Given the description of an element on the screen output the (x, y) to click on. 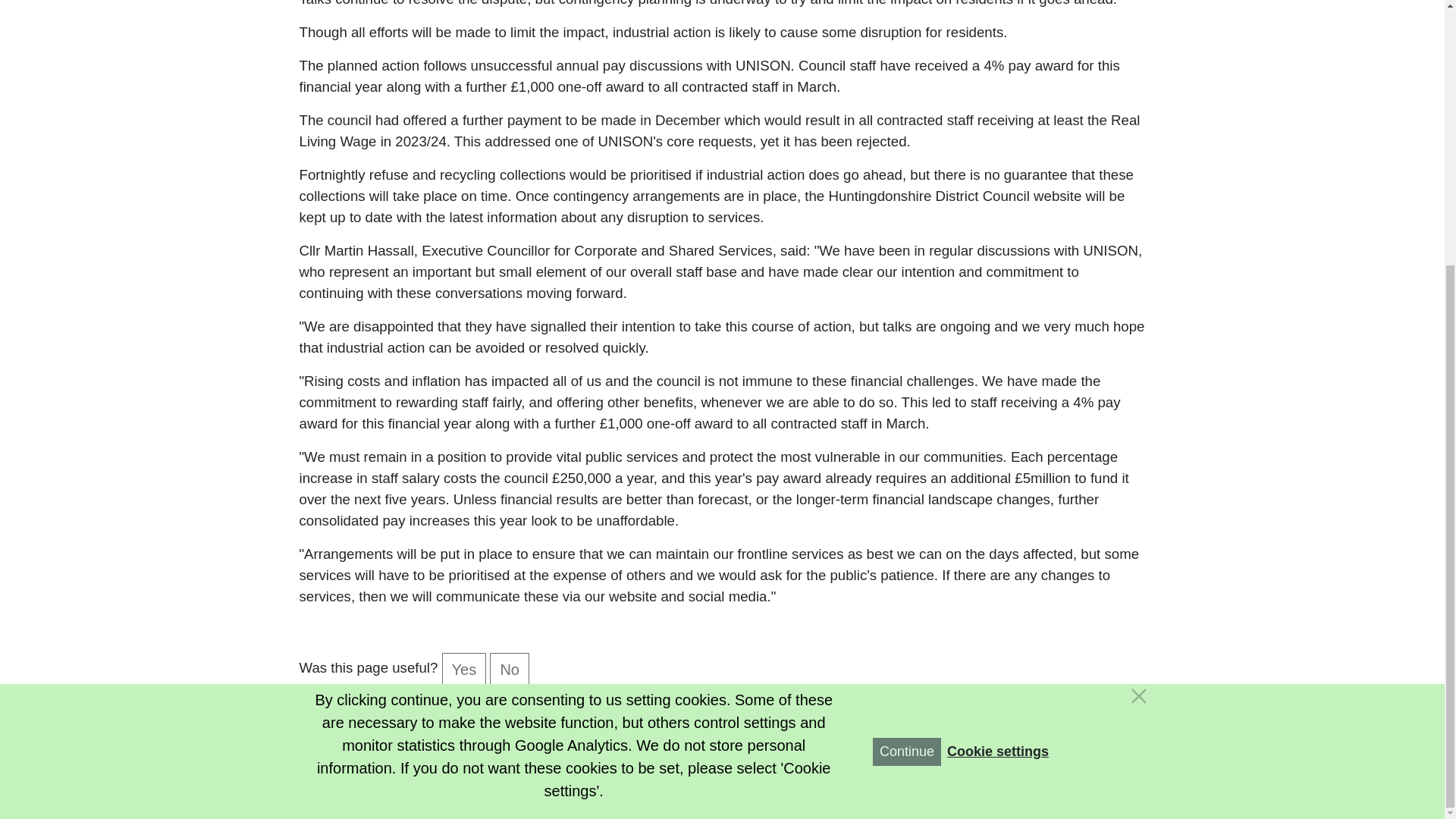
Visit our Twitter feed (931, 722)
Visit our Facebook Feed (894, 722)
No (509, 668)
Yes (464, 668)
